Given the description of an element on the screen output the (x, y) to click on. 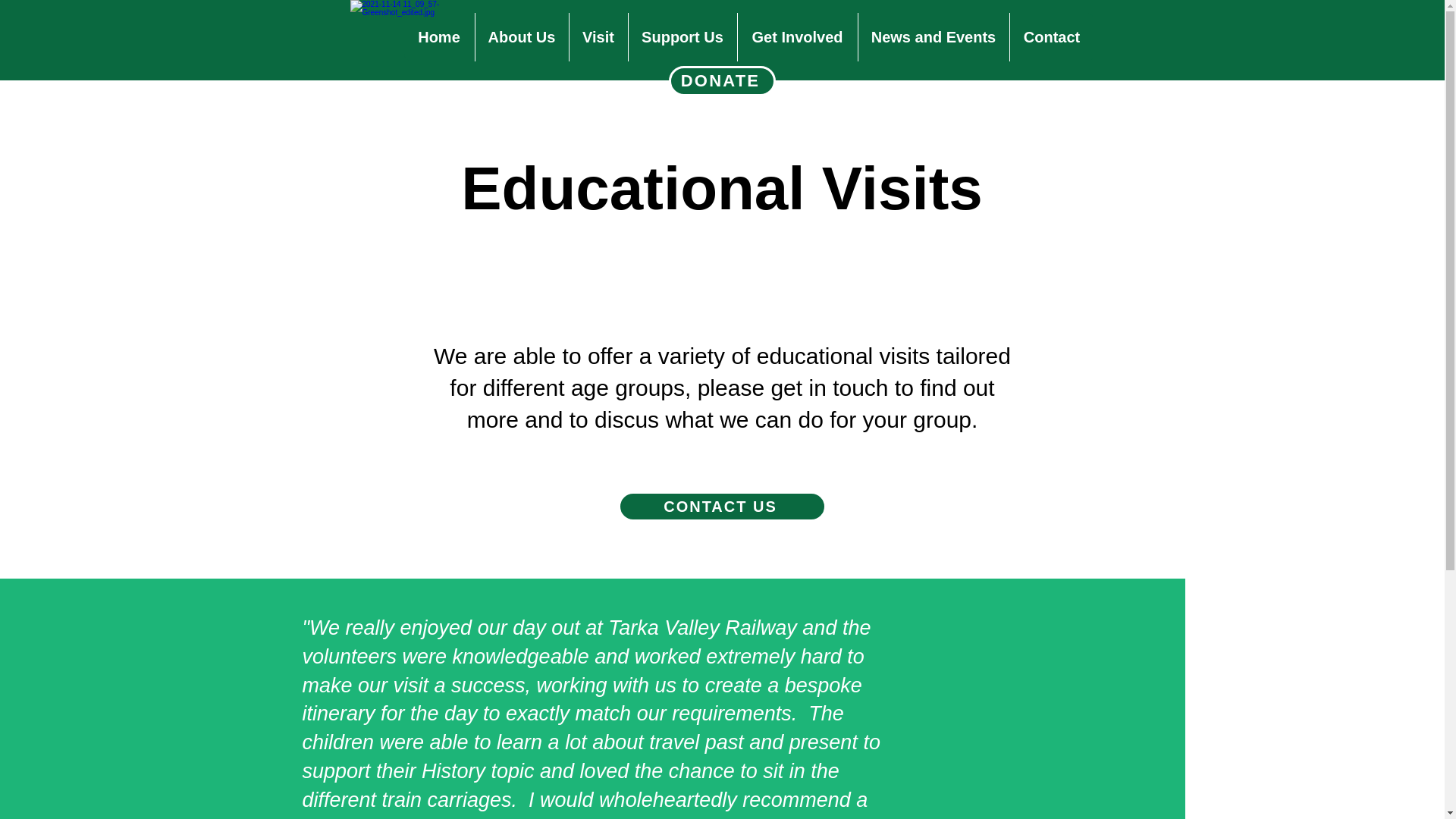
CONTACT US (721, 506)
Contact (1051, 37)
Home (438, 37)
DONATE (722, 81)
